Given the description of an element on the screen output the (x, y) to click on. 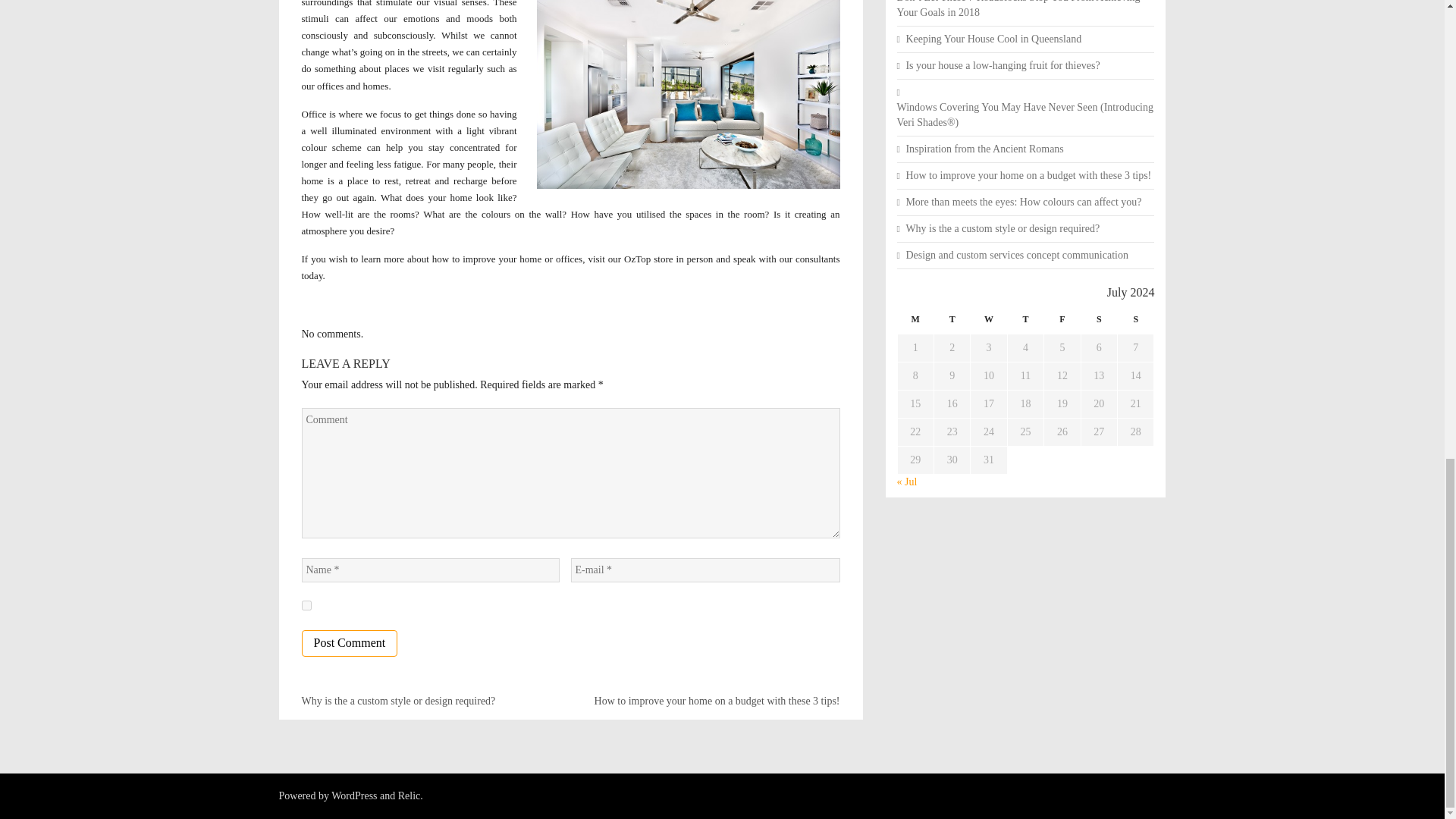
Thursday (1025, 323)
Tuesday (951, 323)
Saturday (1098, 323)
Sunday (1136, 323)
yes (306, 605)
Post Comment (349, 642)
Monday (914, 323)
Friday (1061, 323)
Wednesday (989, 323)
